Given the description of an element on the screen output the (x, y) to click on. 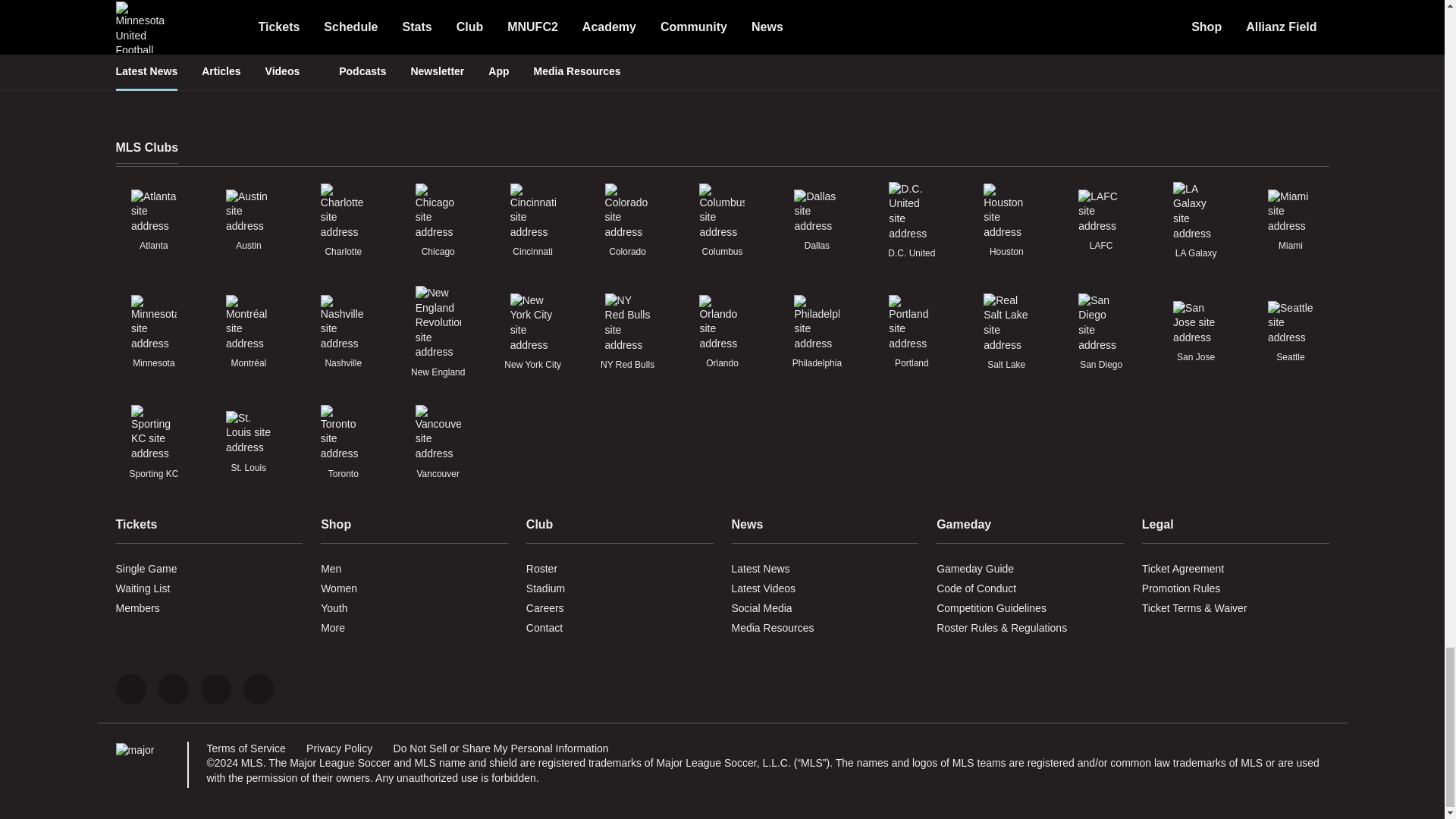
Link to Atlanta (153, 211)
Allina Health Orthopedics (611, 52)
Allianz (470, 37)
Gand Casino Mille Lacs Hinckley (890, 67)
Adidas (972, 37)
Link to Dallas (816, 211)
Bell Bank (700, 37)
Blue Cross and Blue Shield of Minnesota (789, 67)
Link to Austin (247, 211)
Target (532, 37)
